Given the description of an element on the screen output the (x, y) to click on. 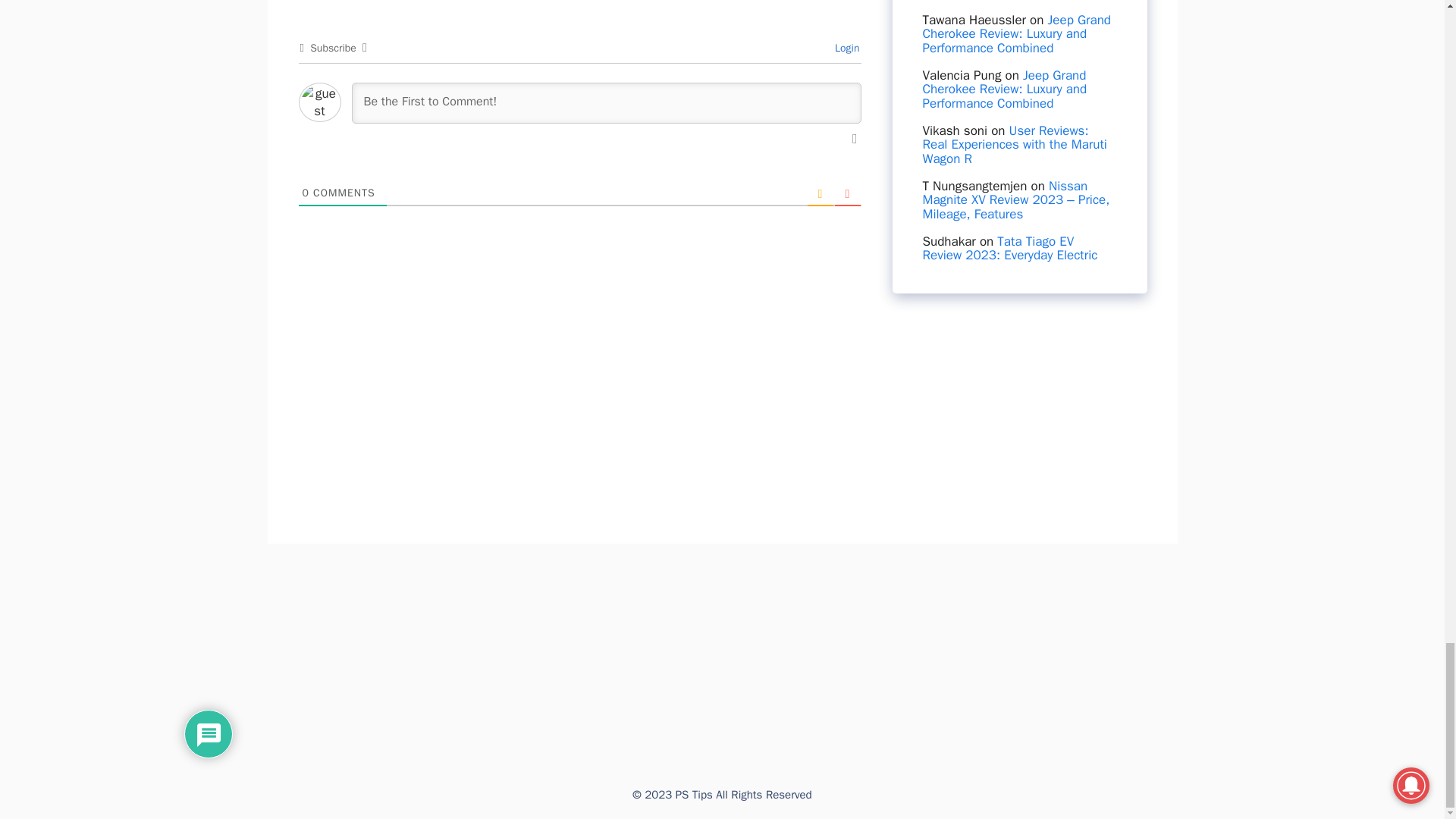
Login (844, 47)
